Given the description of an element on the screen output the (x, y) to click on. 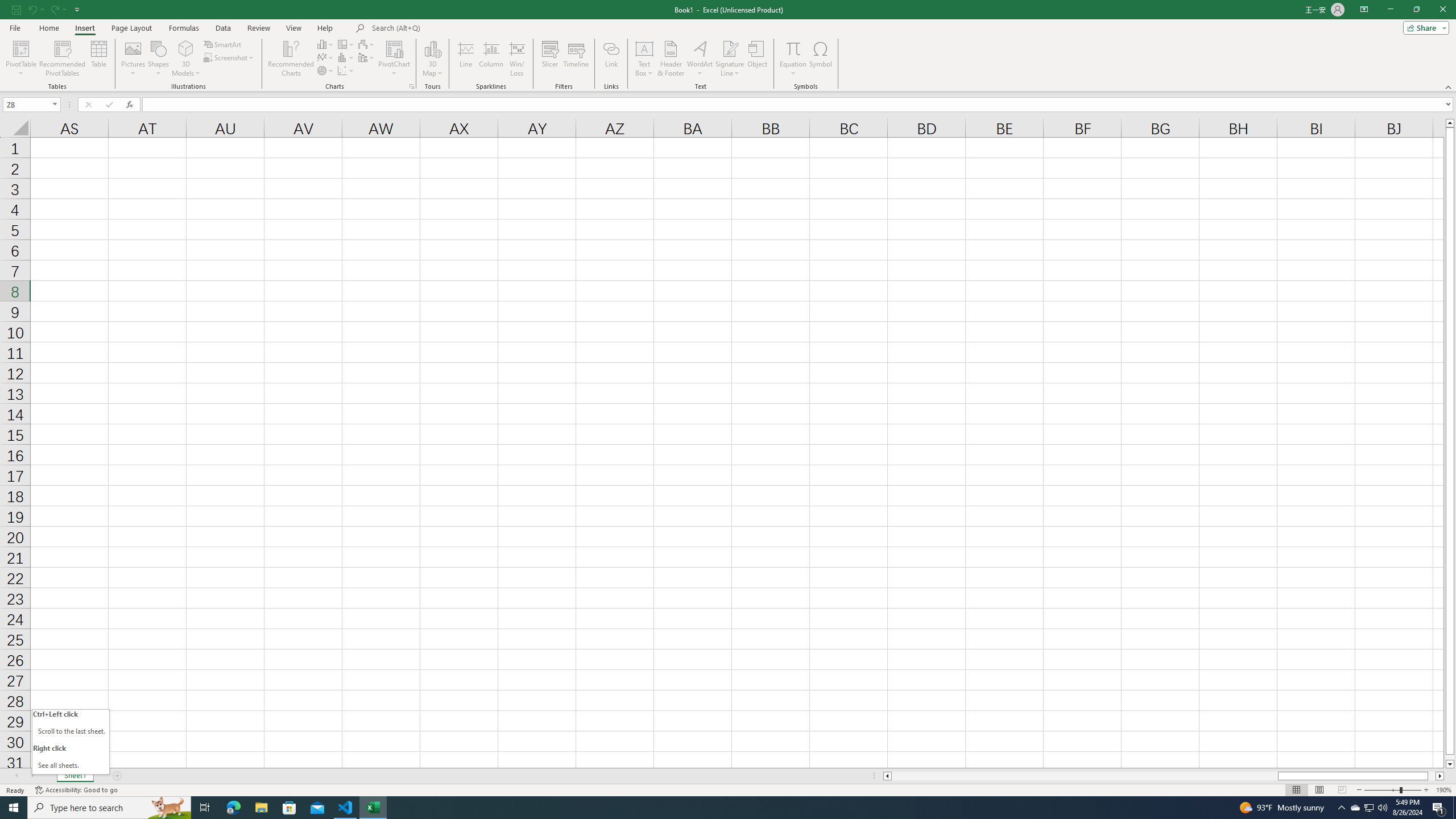
Data (223, 28)
Signature Line (729, 48)
Recommended Charts (411, 85)
Save (16, 9)
File Tab (15, 27)
Insert Waterfall, Funnel, Stock, Surface, or Radar Chart (366, 44)
Page down (1449, 757)
Page right (1431, 775)
Restore Down (1416, 9)
Text Box (643, 58)
Pictures (133, 58)
Help (325, 28)
Column left (886, 775)
Insert Scatter (X, Y) or Bubble Chart (346, 69)
